Given the description of an element on the screen output the (x, y) to click on. 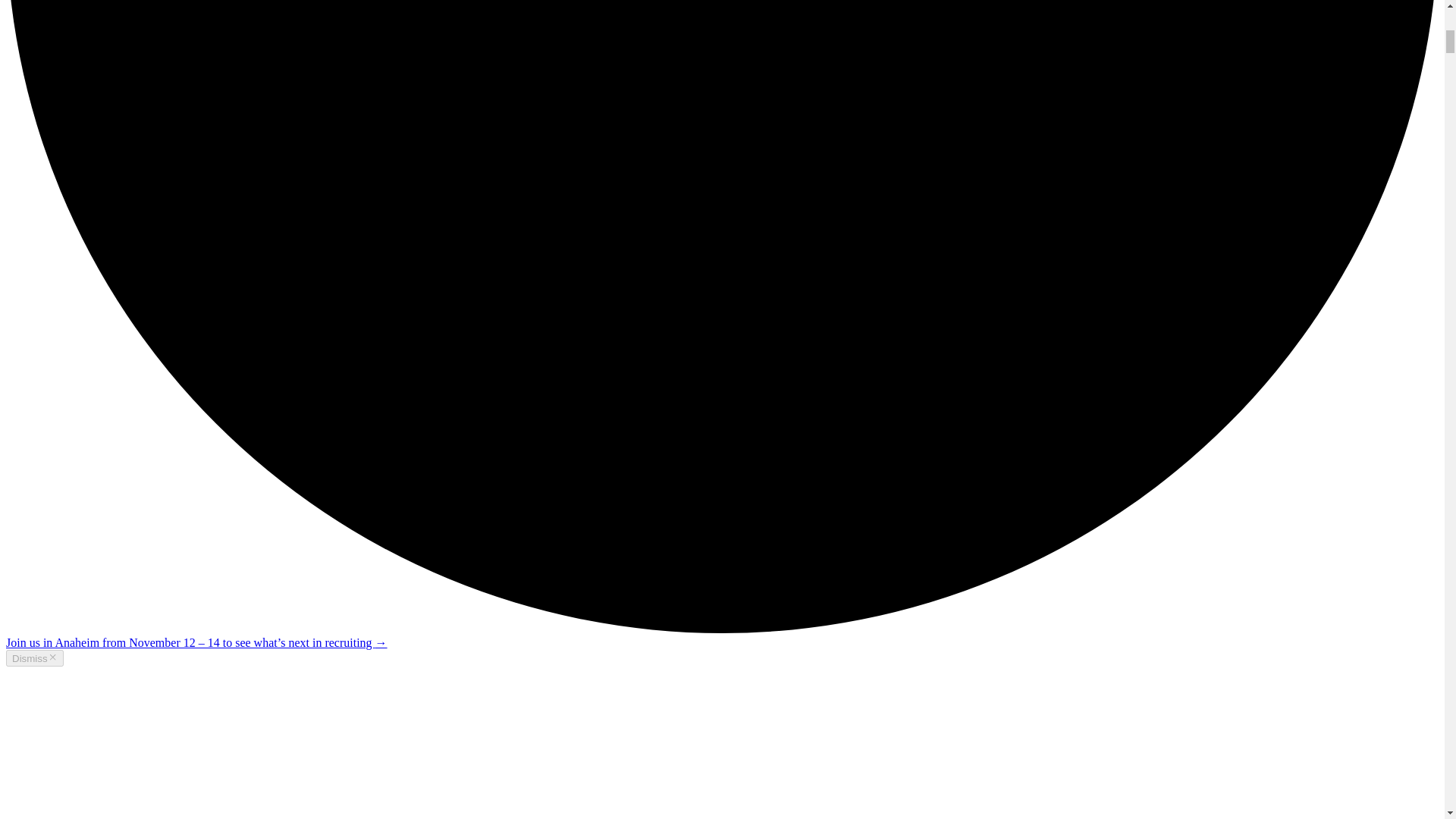
Dismiss (34, 658)
